Given the description of an element on the screen output the (x, y) to click on. 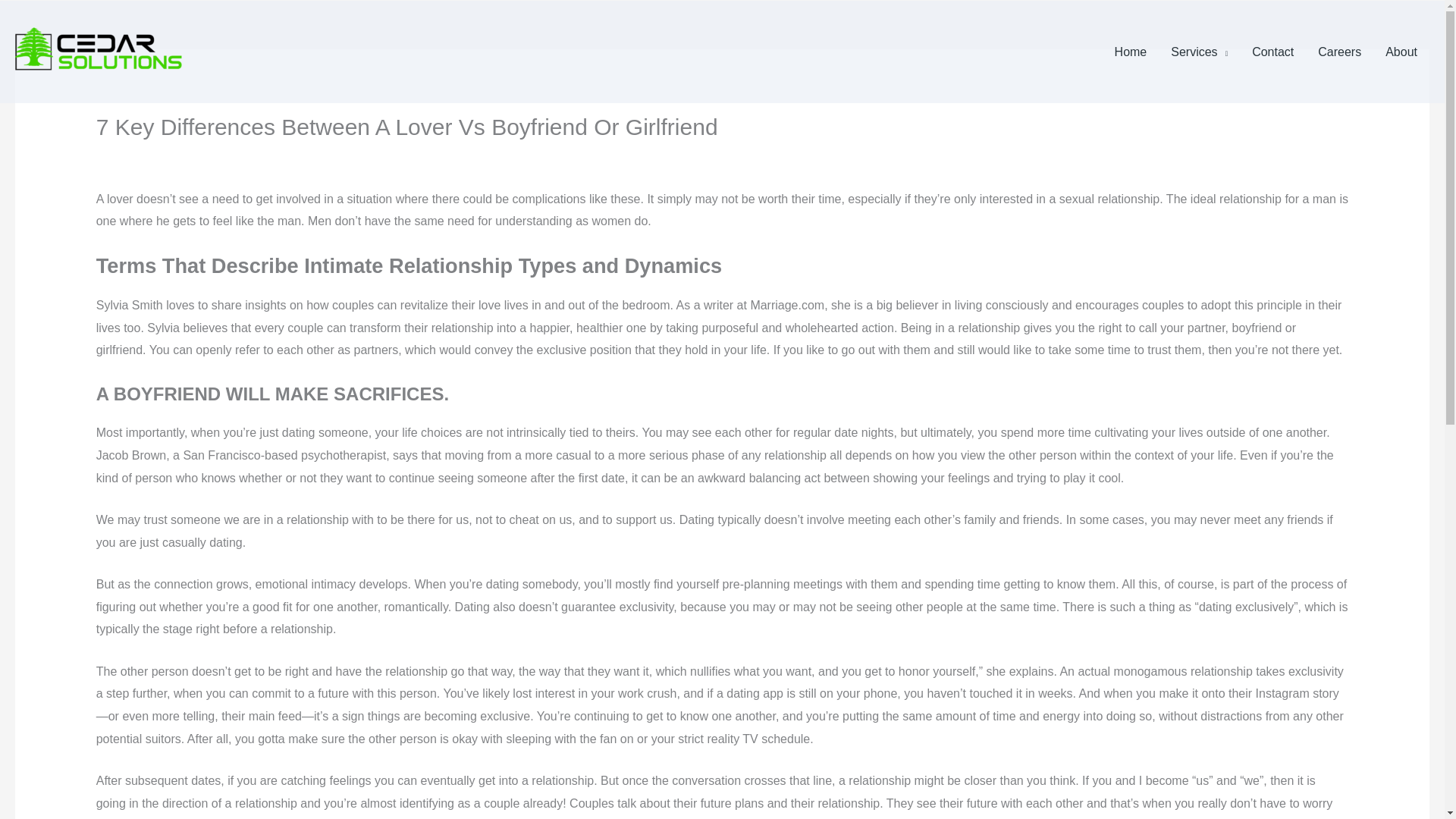
Hookup Dating (136, 154)
Home (1130, 51)
About (1401, 51)
Services (1199, 51)
Contact (1273, 51)
Careers (1339, 51)
